Given the description of an element on the screen output the (x, y) to click on. 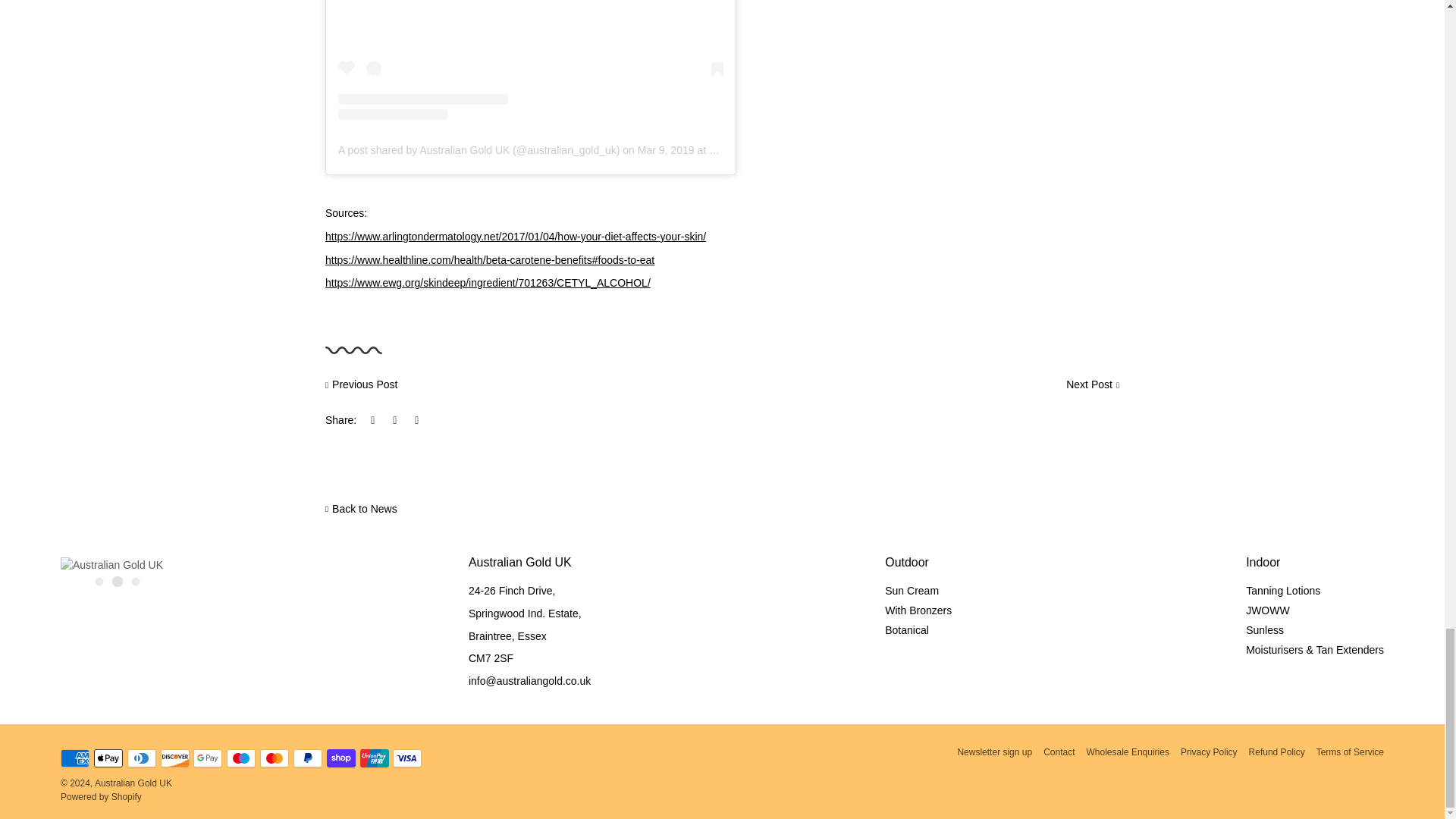
View this post on Instagram (530, 60)
Apple Pay (108, 758)
American Express (74, 758)
Maestro (241, 758)
Visa (407, 758)
Diners Club (141, 758)
Mastercard (274, 758)
Union Pay (373, 758)
PayPal (307, 758)
Discover (174, 758)
